Given the description of an element on the screen output the (x, y) to click on. 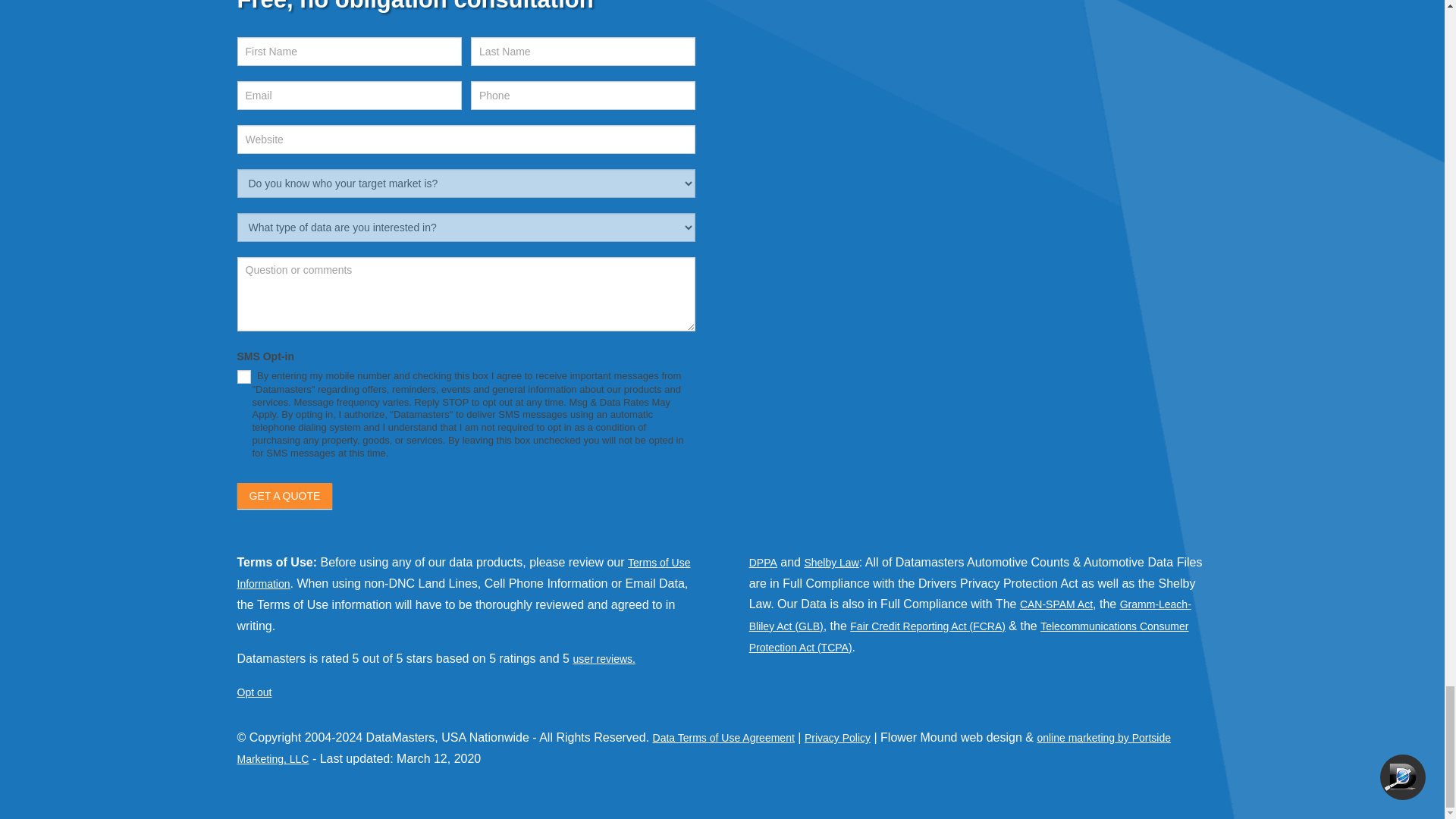
DataMasters, Marketing Consultant, Flower Mound, TX (825, 230)
GET A QUOTE (283, 495)
Can Spam Act (1056, 604)
